Given the description of an element on the screen output the (x, y) to click on. 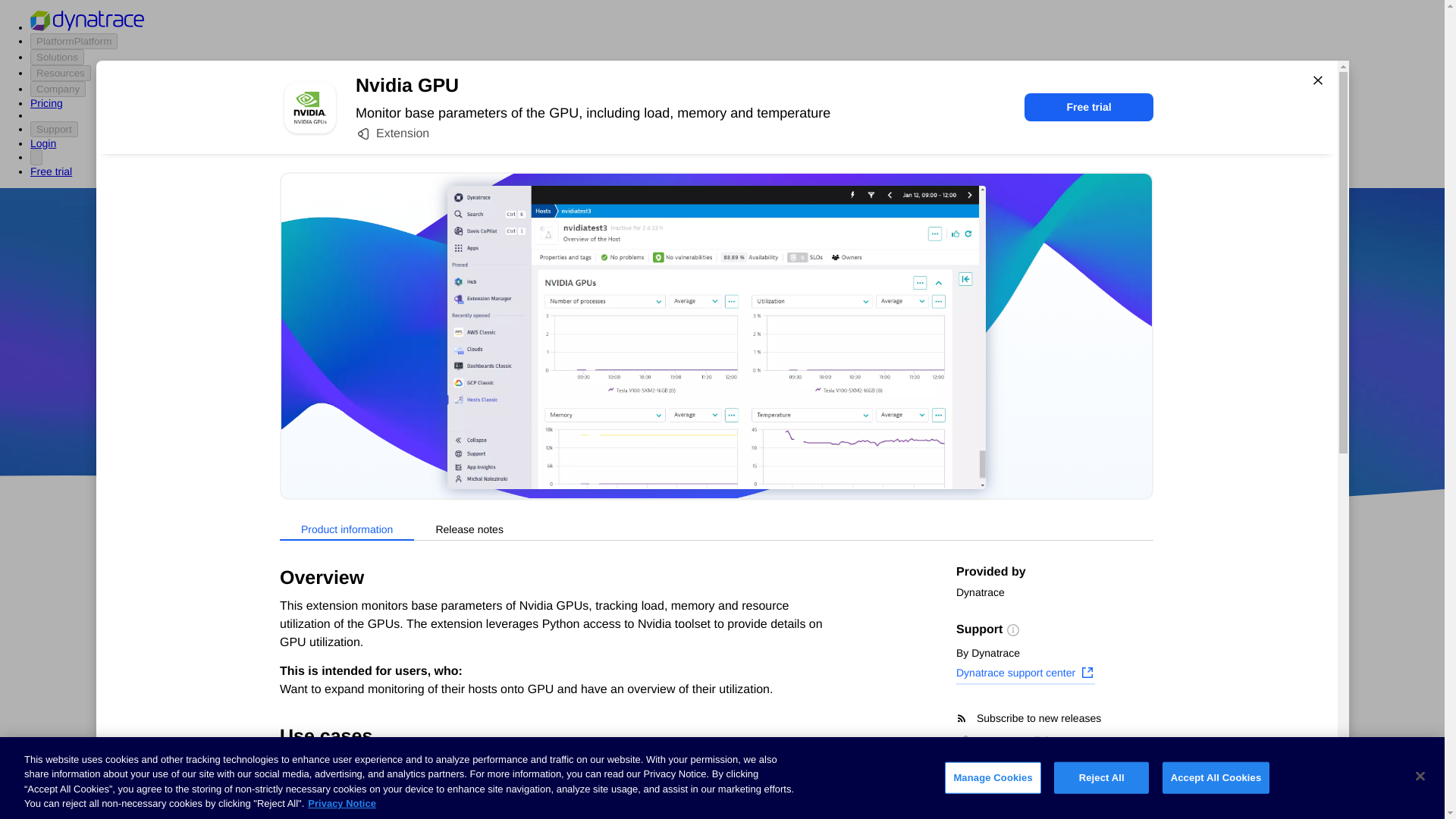
 Envoy Istio Kubernetes Service Mesh (841, 778)
Certified Partners (309, 612)
Infrastructure Observability (335, 809)
AWS (637, 418)
WIPRO Holmes (606, 723)
Kubernetes (295, 755)
Build your own app (314, 669)
Azure (681, 418)
Wipro (840, 375)
Istio Service Mesh (842, 723)
Get data into Dynatrace (325, 641)
Hub home (291, 583)
 artificial-intelligence machine-learning (607, 778)
Log Management and Analytics (345, 727)
DevOps (829, 418)
